Given the description of an element on the screen output the (x, y) to click on. 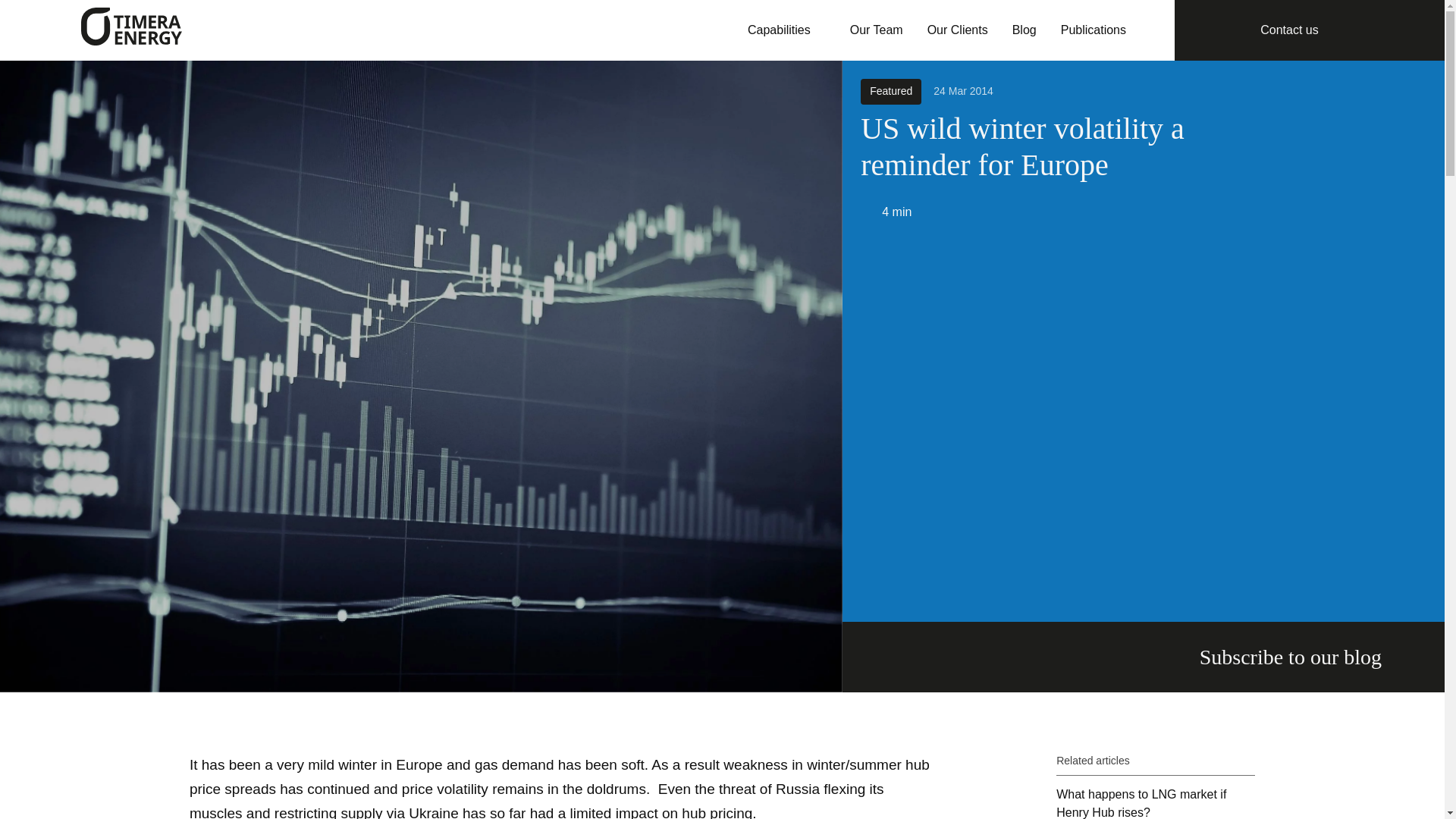
Capabilities (786, 30)
Publications (1093, 30)
What happens to LNG market if Henry Hub rises? (1156, 802)
Our Clients (957, 30)
